Given the description of an element on the screen output the (x, y) to click on. 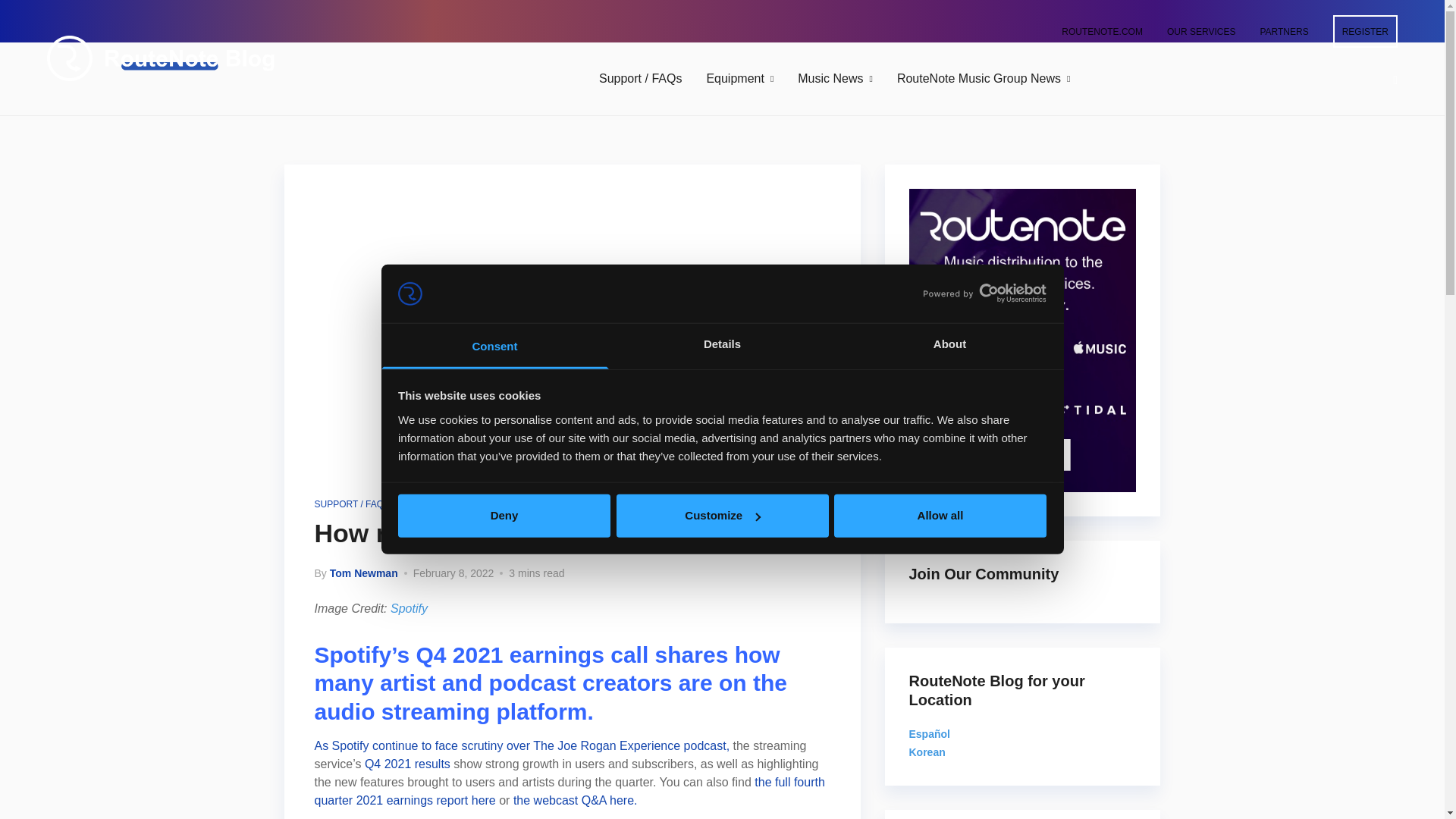
Details (721, 346)
Consent (494, 346)
About (948, 346)
